Given the description of an element on the screen output the (x, y) to click on. 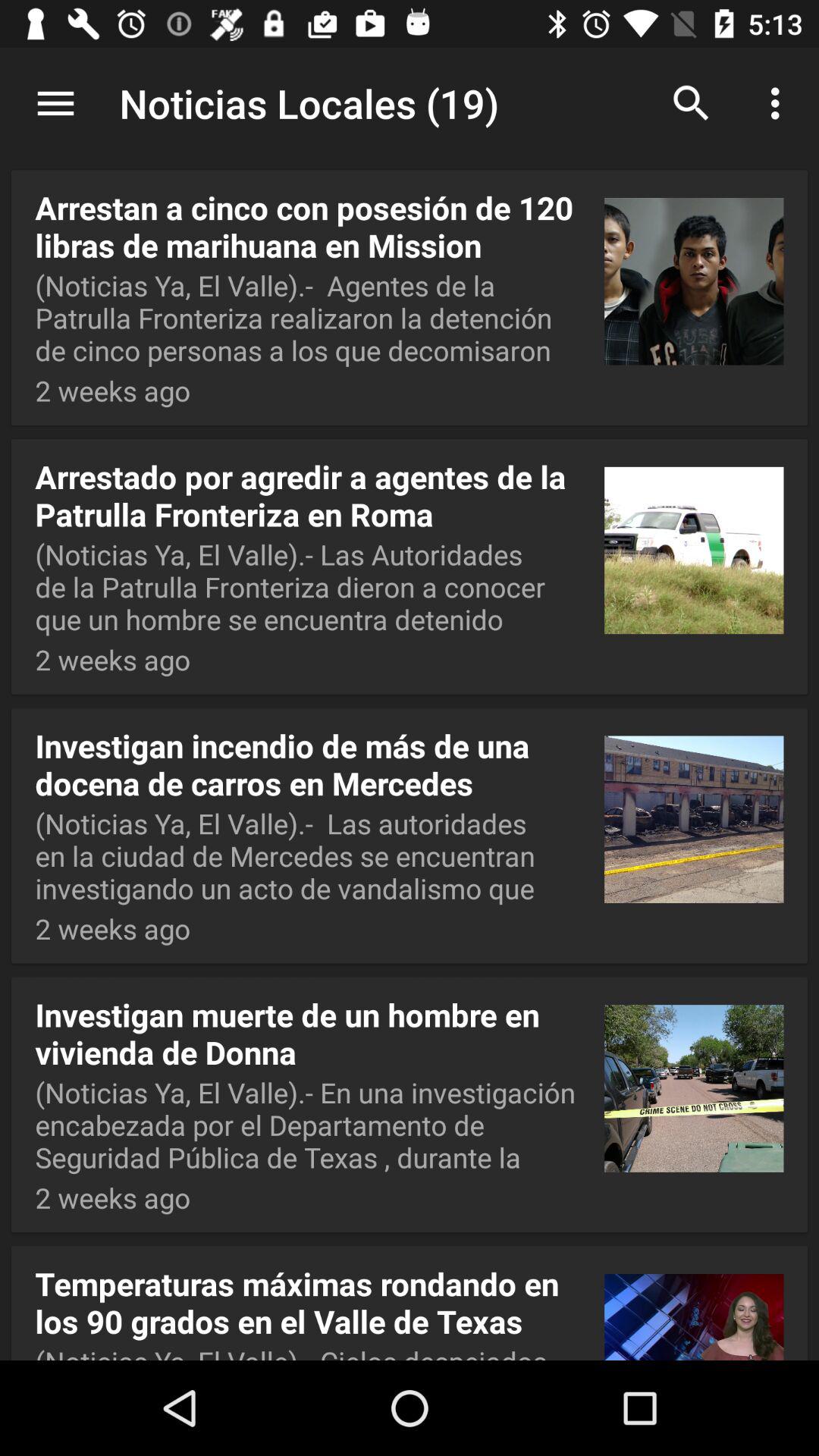
select the app above arrestan a cinco item (409, 105)
